Given the description of an element on the screen output the (x, y) to click on. 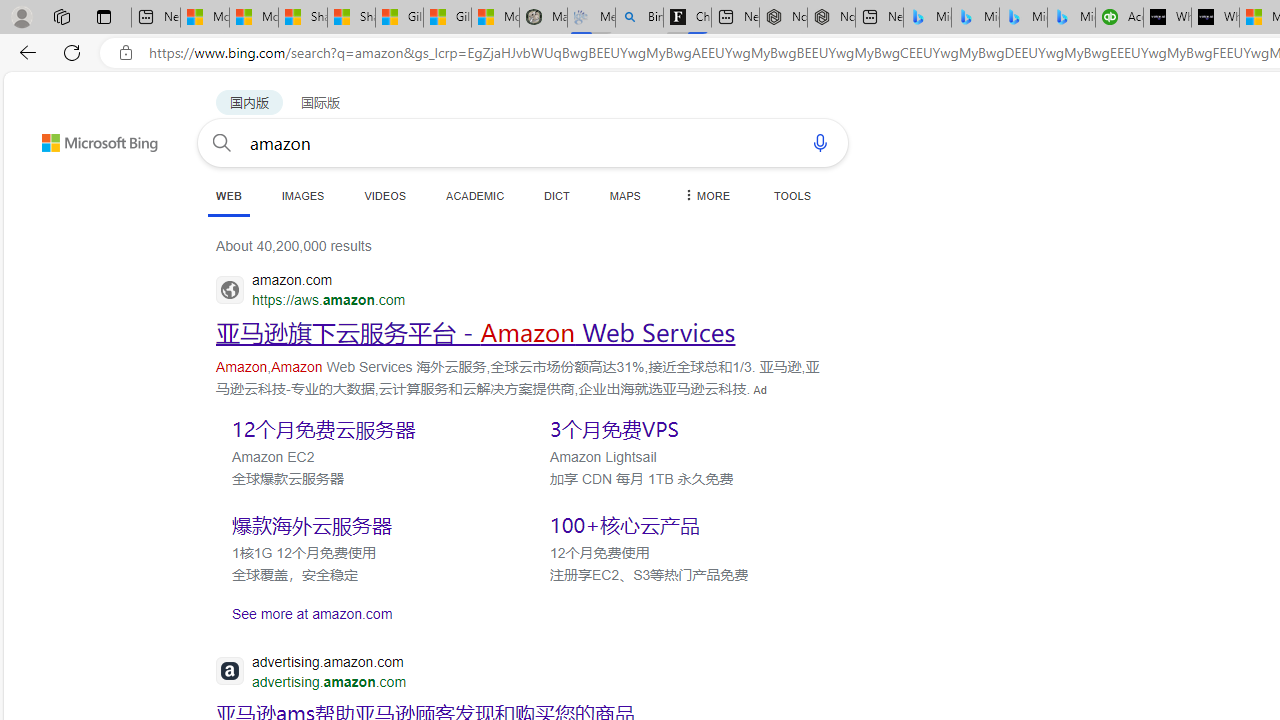
Bing Real Estate - Home sales and rental listings (639, 17)
Search button (221, 142)
Microsoft Bing Travel - Stays in Bangkok, Bangkok, Thailand (975, 17)
WEB (228, 196)
Nordace - #1 Japanese Best-Seller - Siena Smart Backpack (831, 17)
View site information (125, 53)
MAPS (624, 195)
IMAGES (302, 195)
